Given the description of an element on the screen output the (x, y) to click on. 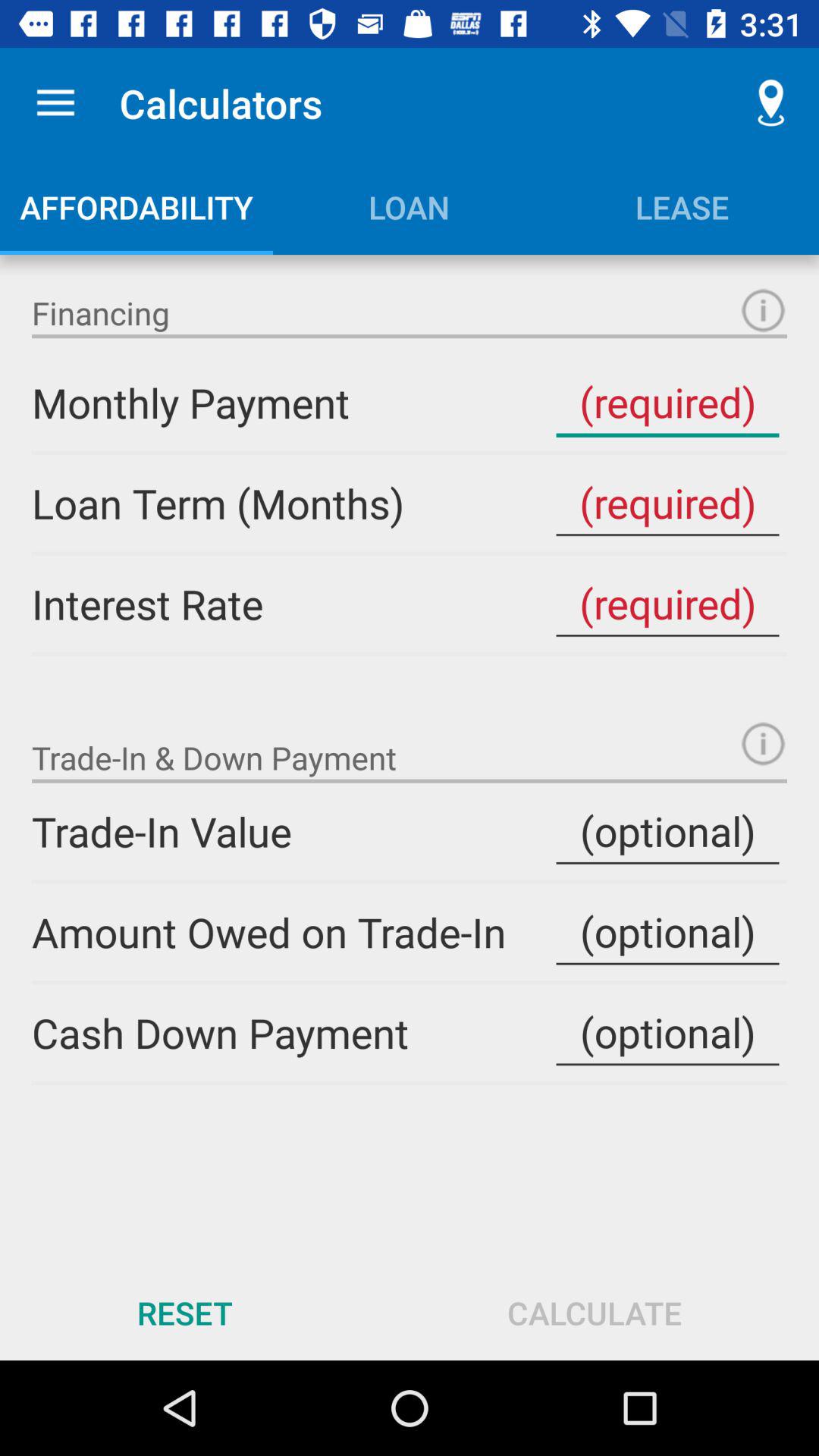
enter monthly payment (667, 402)
